Given the description of an element on the screen output the (x, y) to click on. 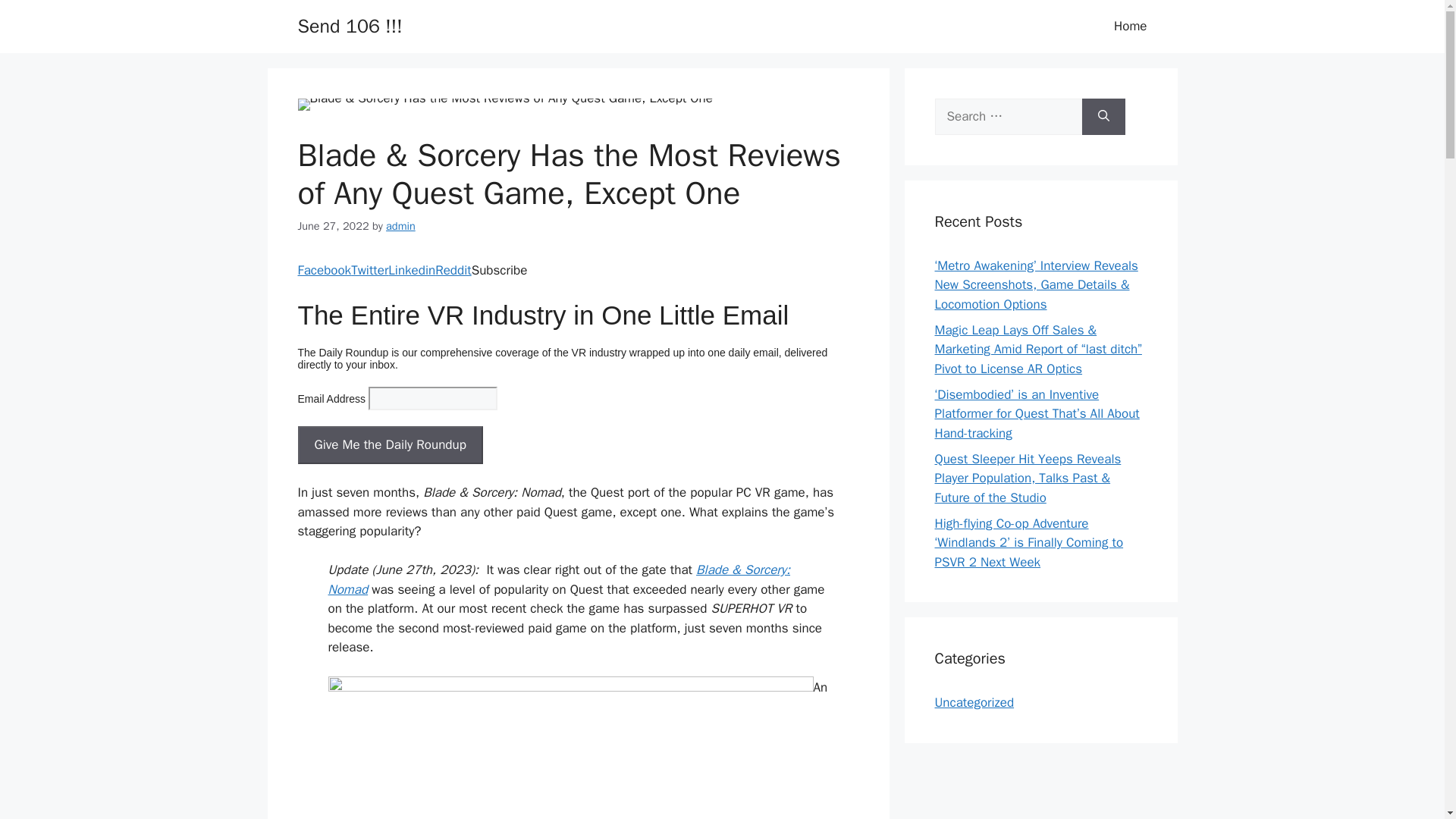
Give Me the Daily Roundup (389, 444)
Search for: (1007, 116)
Linkedin (411, 270)
View all posts by admin (399, 225)
admin (399, 225)
Home (1130, 26)
Send 106 !!! (349, 25)
Facebook (323, 270)
Give Me the Daily Roundup (389, 444)
Uncategorized (973, 702)
Reddit (453, 270)
Twitter (369, 270)
